Given the description of an element on the screen output the (x, y) to click on. 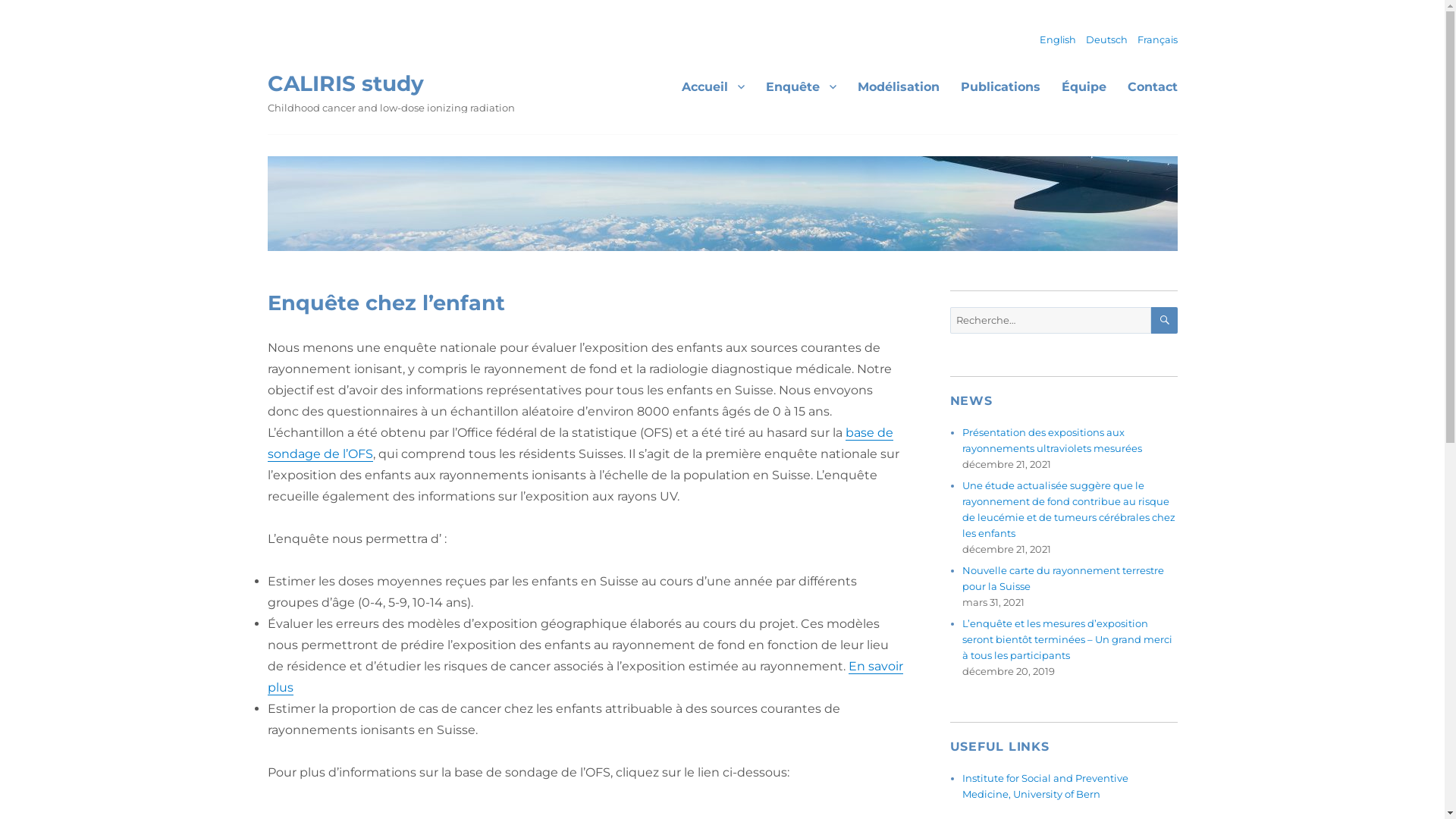
En savoir plus Element type: text (584, 676)
English Element type: text (1056, 39)
RECHERCHE Element type: text (1164, 320)
Nouvelle carte du rayonnement terrestre pour la Suisse Element type: text (1063, 578)
Accueil Element type: text (712, 86)
Deutsch Element type: text (1106, 39)
Publications Element type: text (999, 86)
CALIRIS study Element type: text (344, 83)
Contact Element type: text (1151, 86)
